Given the description of an element on the screen output the (x, y) to click on. 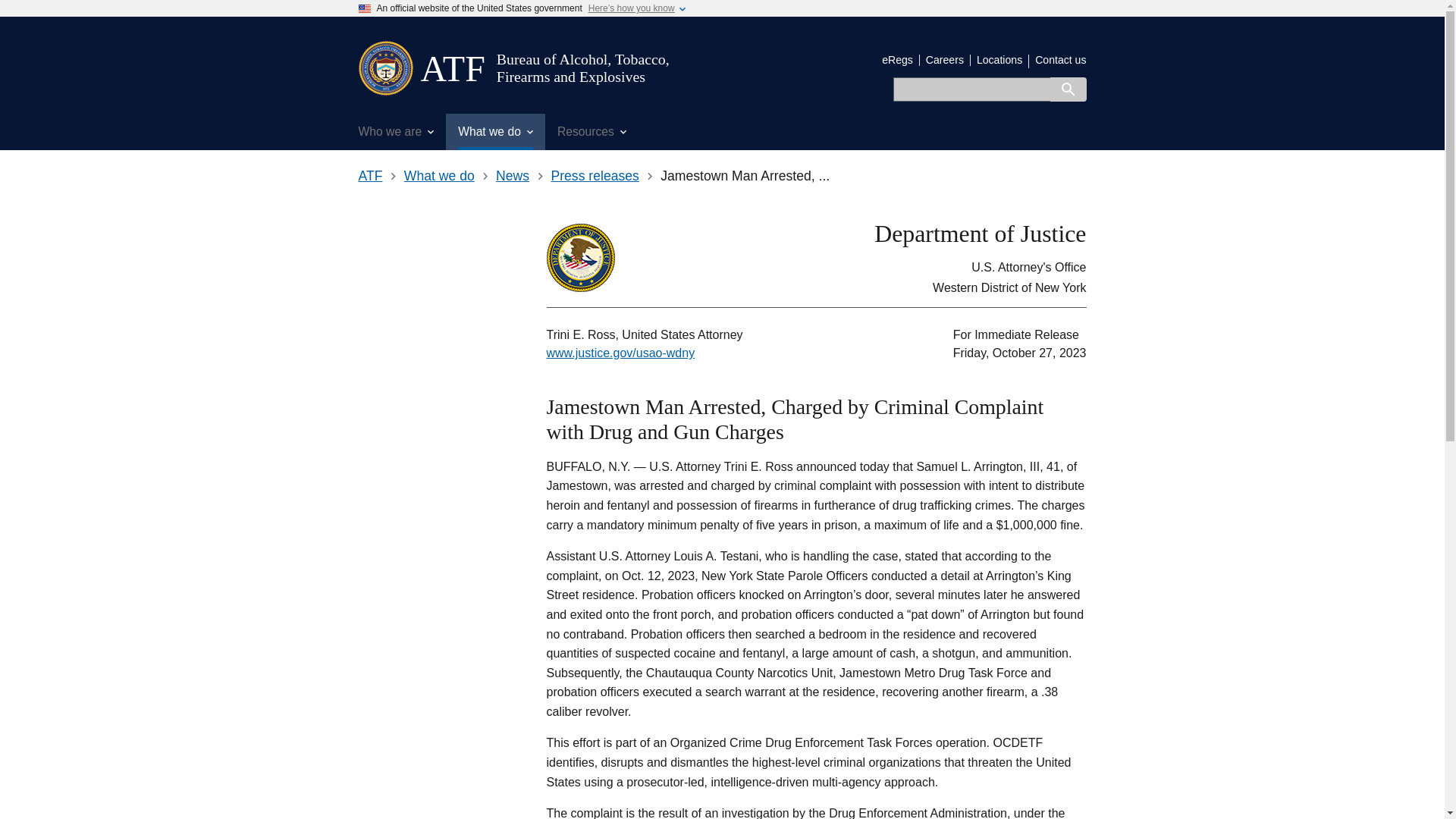
Contact us (1060, 59)
News (512, 175)
ATF (452, 68)
Careers (944, 59)
Search (1067, 88)
ATF (452, 68)
Who we are (395, 131)
eRegs (897, 59)
Locations (999, 59)
What we do (439, 175)
